Given the description of an element on the screen output the (x, y) to click on. 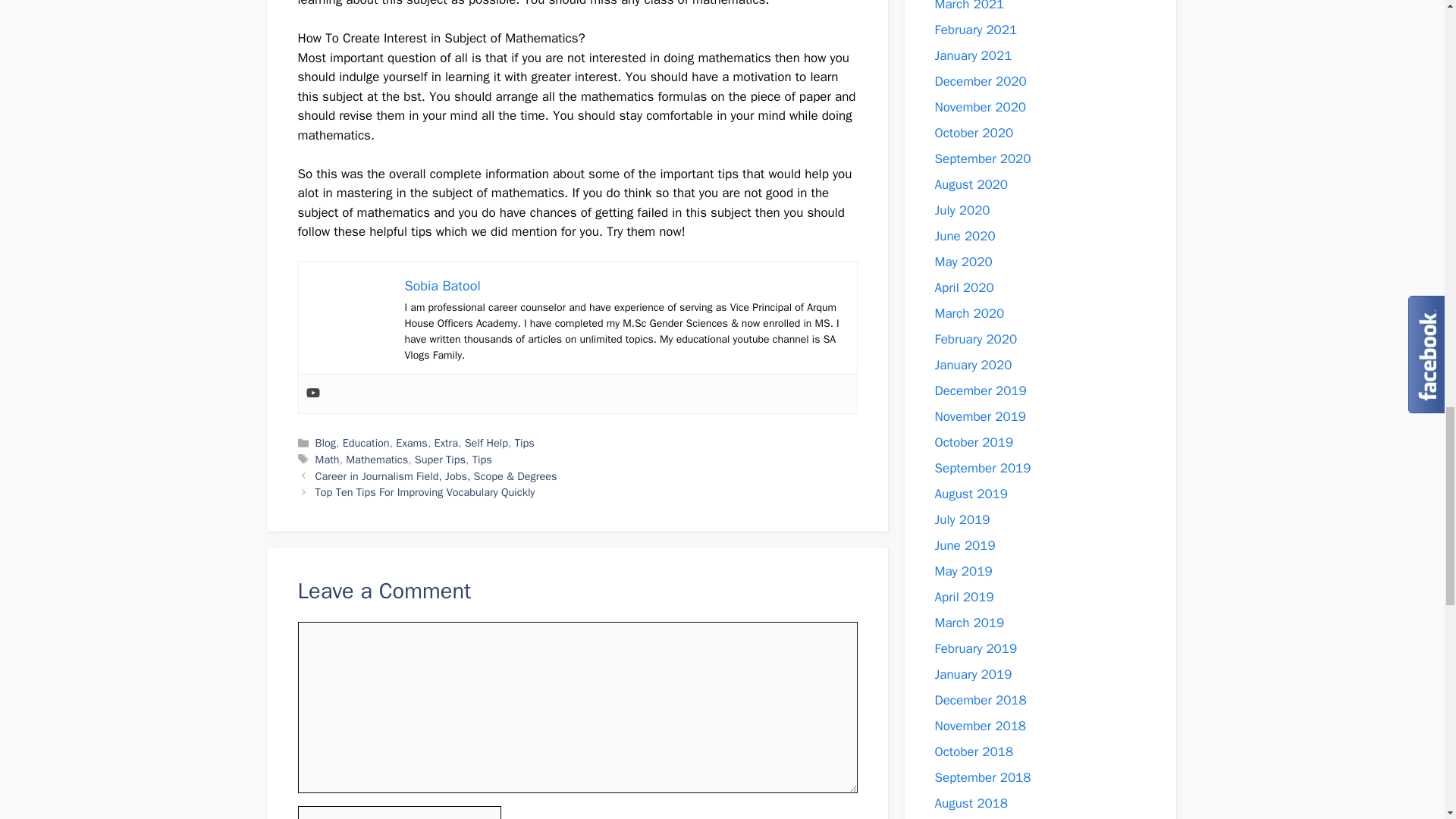
Blog (325, 442)
Education (366, 442)
Sobia Batool (442, 285)
